Given the description of an element on the screen output the (x, y) to click on. 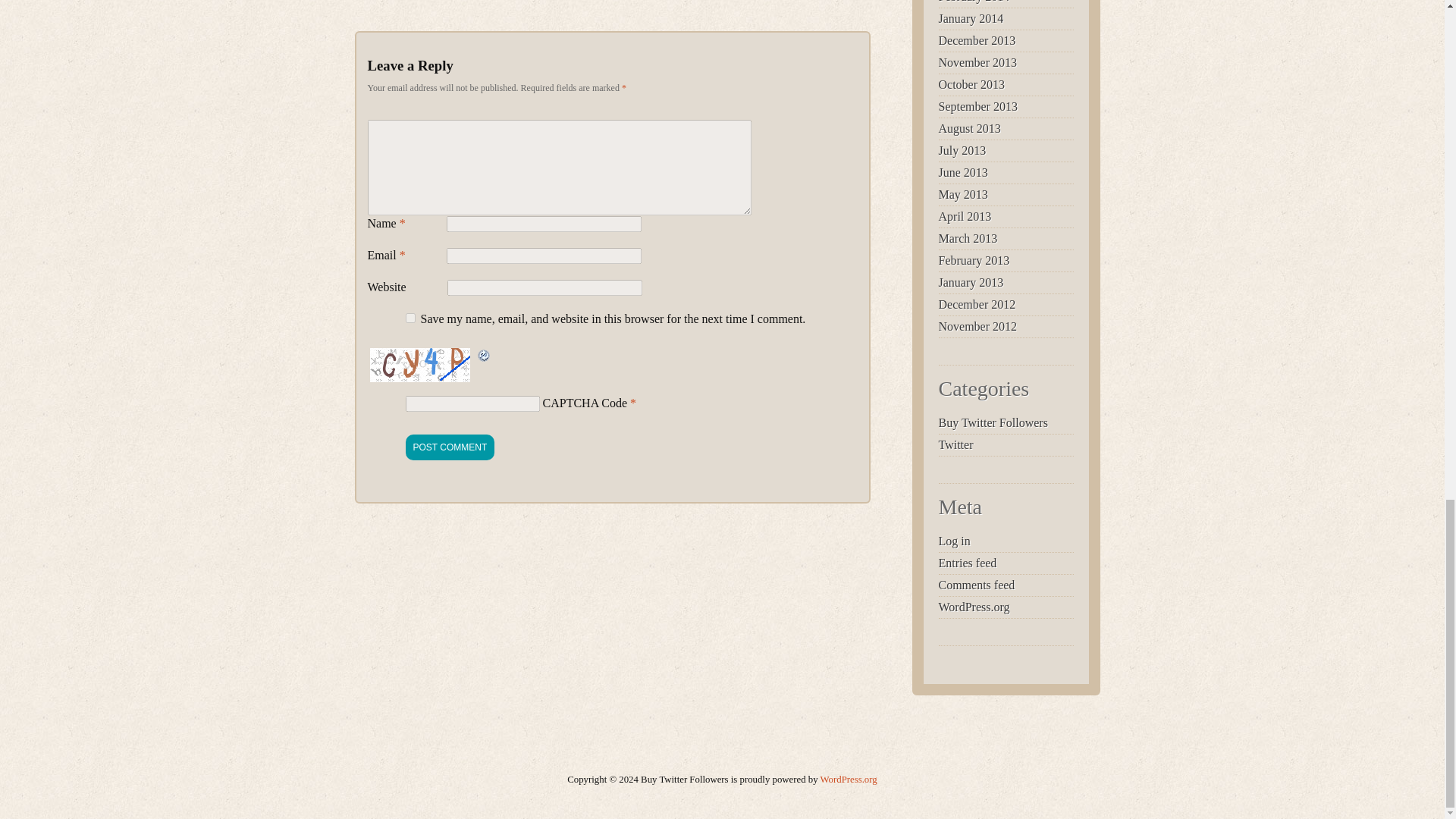
Post Comment (449, 447)
Refresh (484, 355)
CAPTCHA (419, 364)
Post Comment (449, 447)
yes (409, 317)
